Given the description of an element on the screen output the (x, y) to click on. 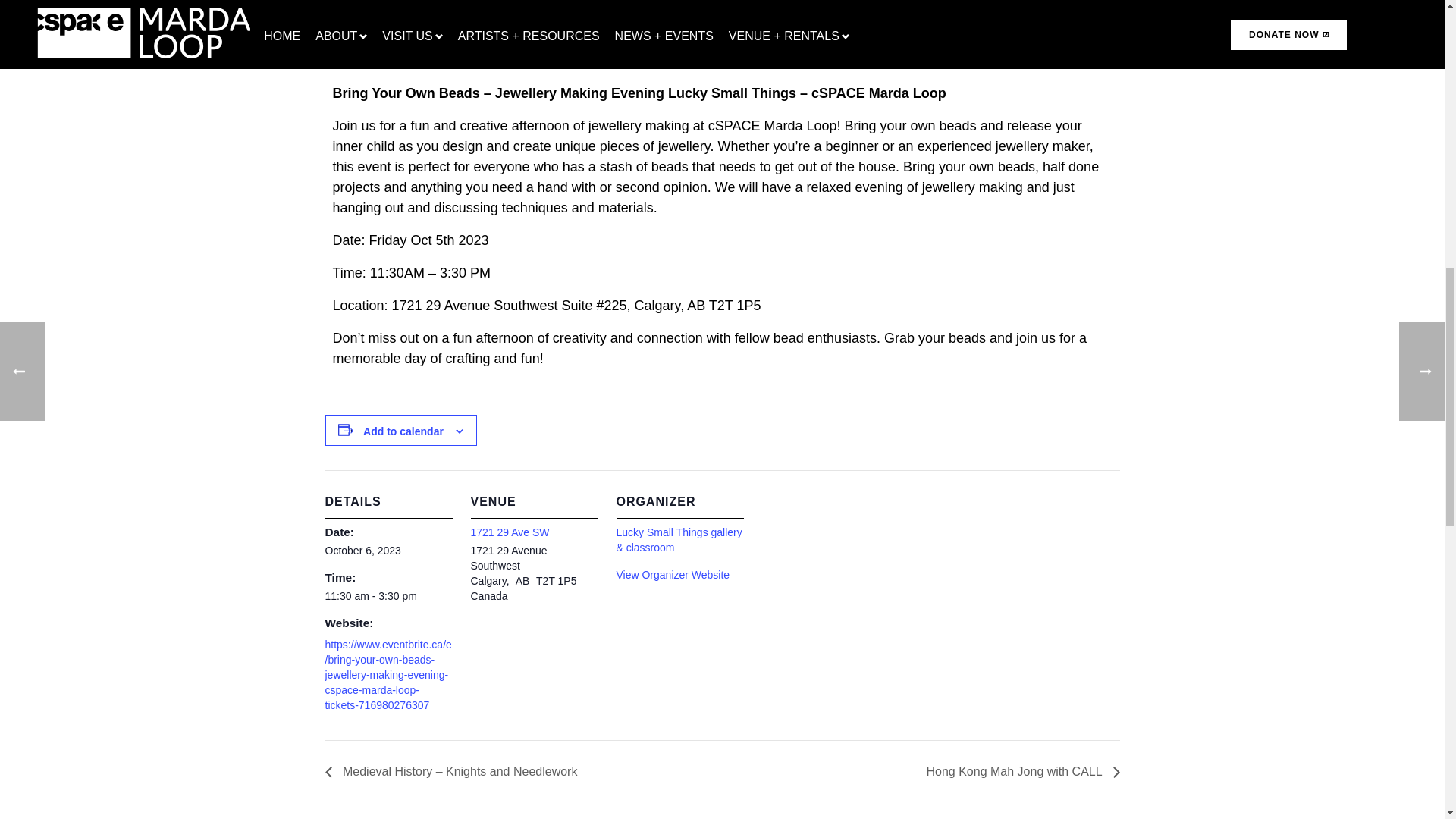
AB (524, 580)
2023-10-06 (364, 550)
2023-10-06 (387, 595)
